Given the description of an element on the screen output the (x, y) to click on. 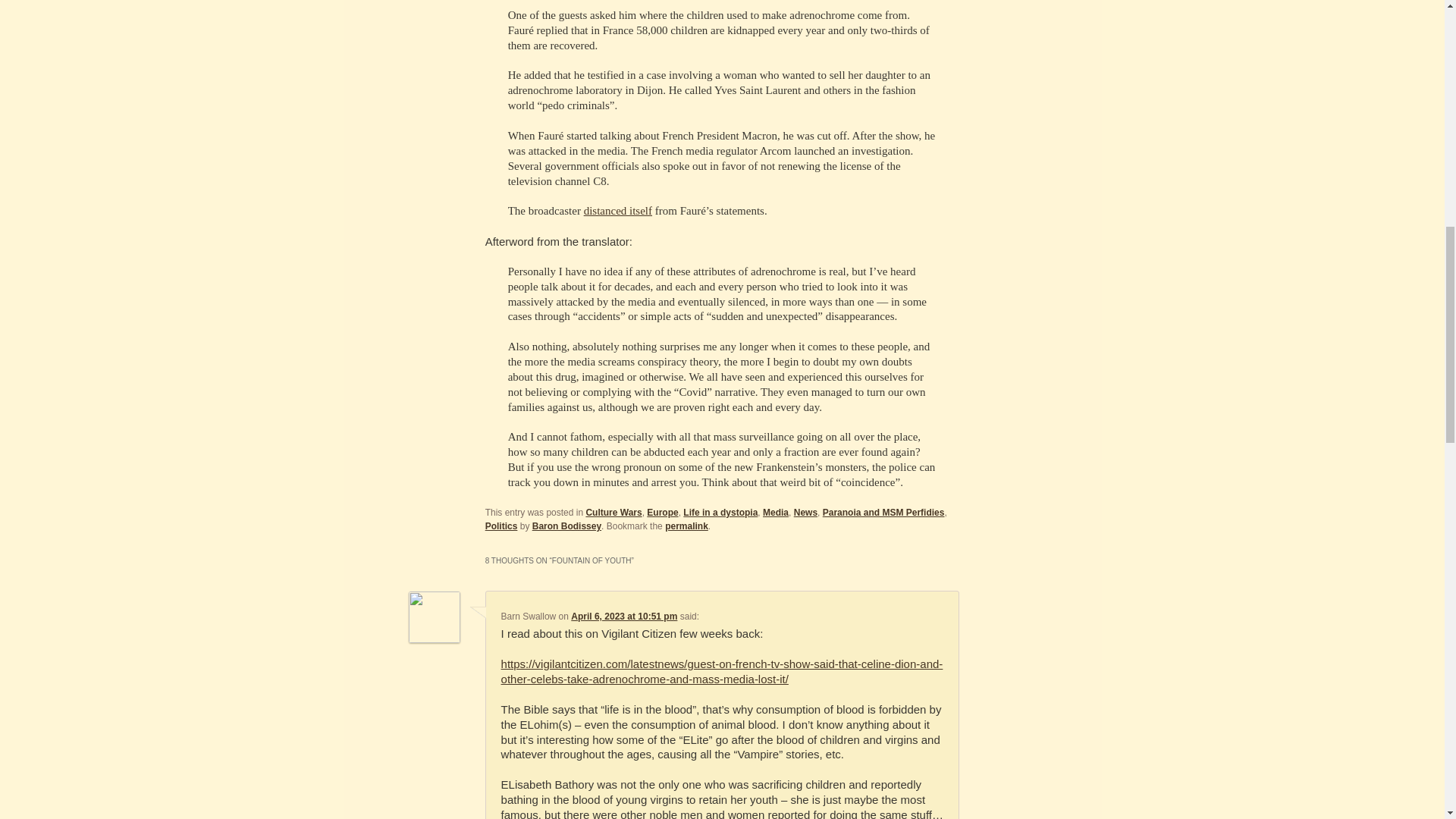
Permalink to Fountain of Youth (686, 525)
